Given the description of an element on the screen output the (x, y) to click on. 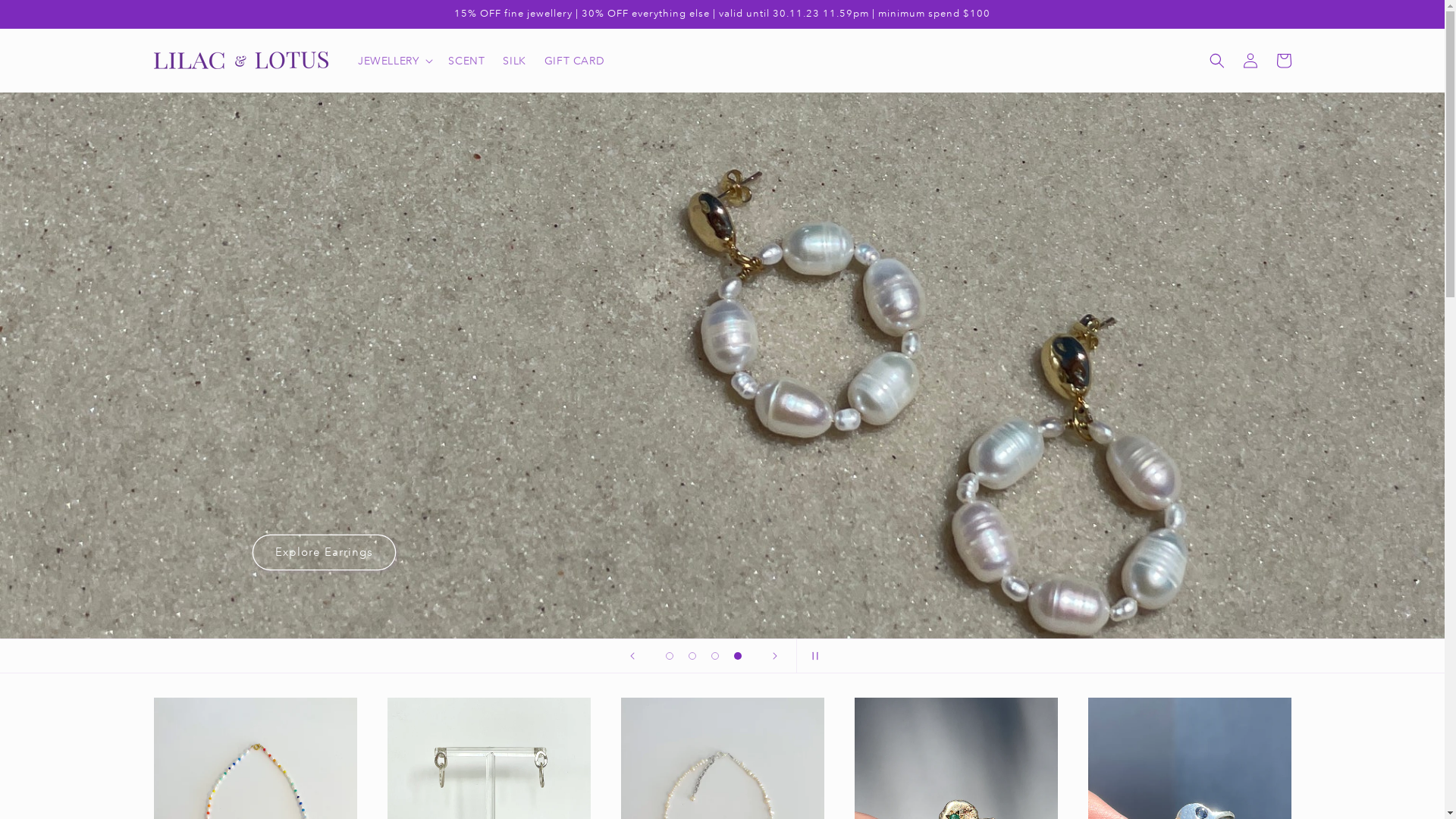
Log in Element type: text (1249, 60)
SILK Element type: text (513, 60)
Explore Earrings Element type: text (323, 552)
SCENT Element type: text (466, 60)
GIFT CARD Element type: text (574, 60)
Cart Element type: text (1282, 60)
